Given the description of an element on the screen output the (x, y) to click on. 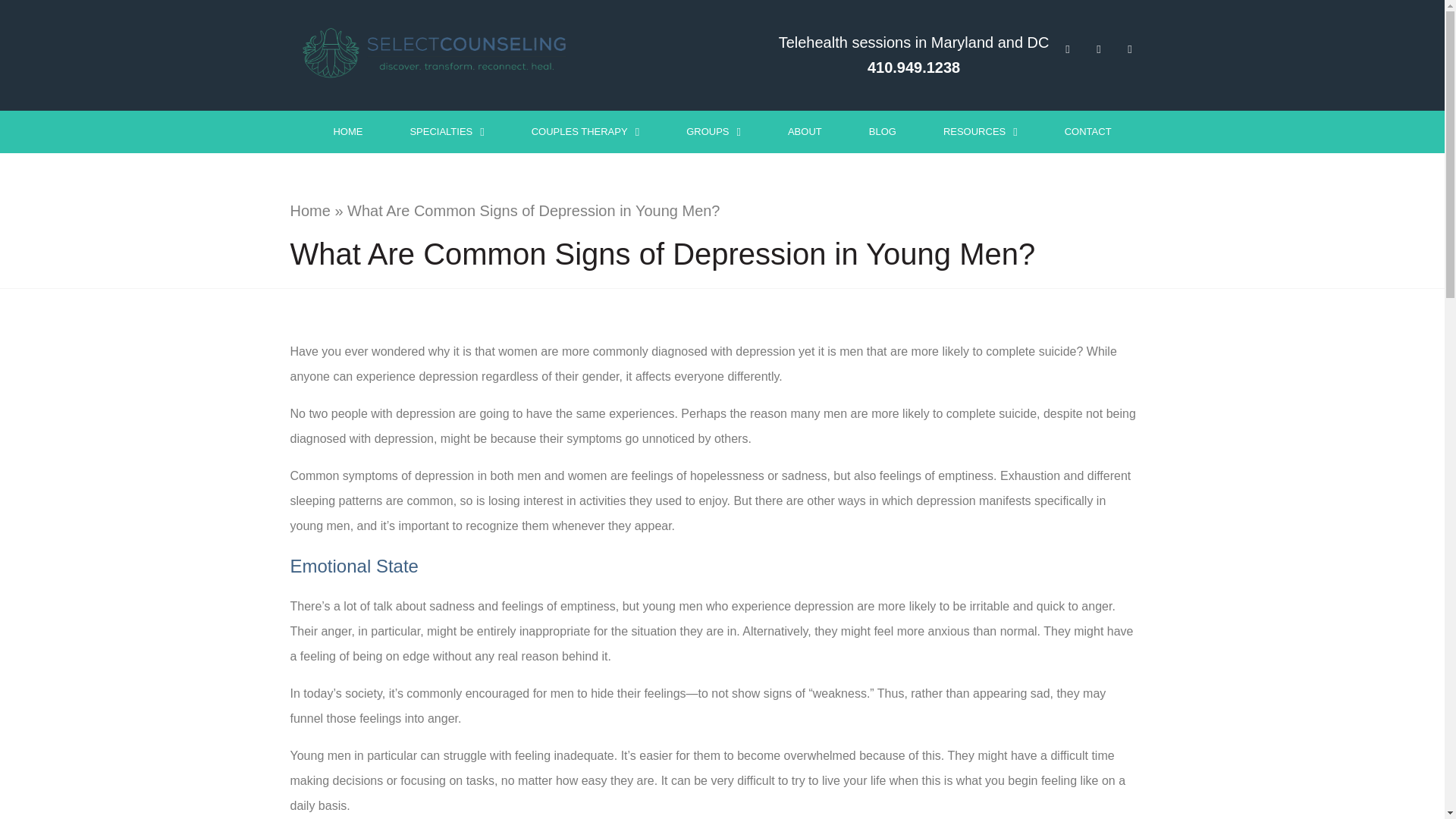
HOME (346, 131)
CONTACT (1088, 131)
SPECIALTIES (445, 131)
410.949.1238 (913, 67)
ABOUT (804, 131)
GROUPS (713, 131)
COUPLES THERAPY (585, 131)
RESOURCES (980, 131)
BLOG (882, 131)
